Given the description of an element on the screen output the (x, y) to click on. 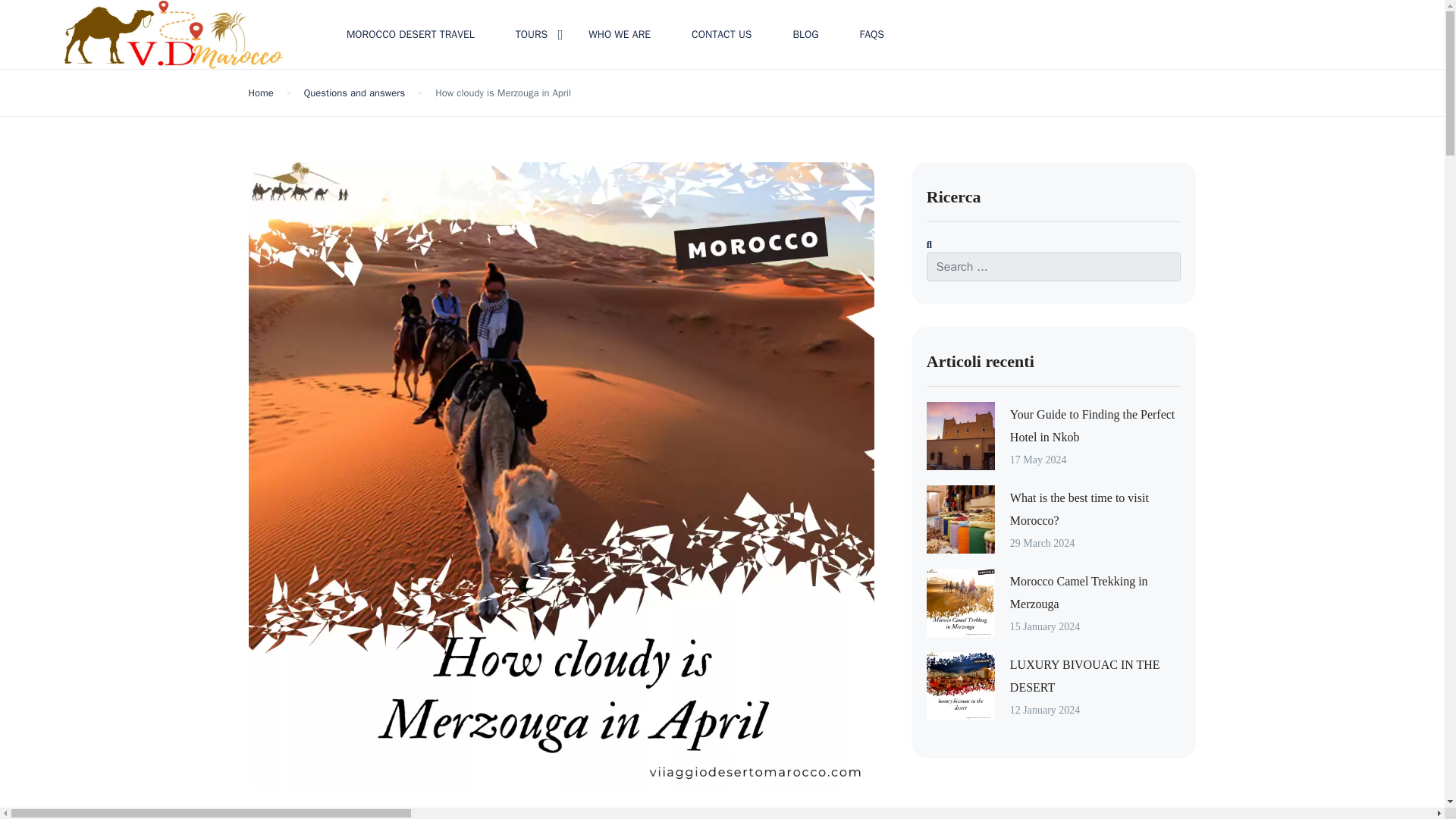
TOURS (531, 34)
WHO WE ARE (619, 34)
BLOG (805, 34)
CONTACT US (721, 34)
Home (260, 92)
MOROCCO DESERT TRAVEL (410, 34)
FAQS (871, 34)
Questions and answers (354, 92)
